Given the description of an element on the screen output the (x, y) to click on. 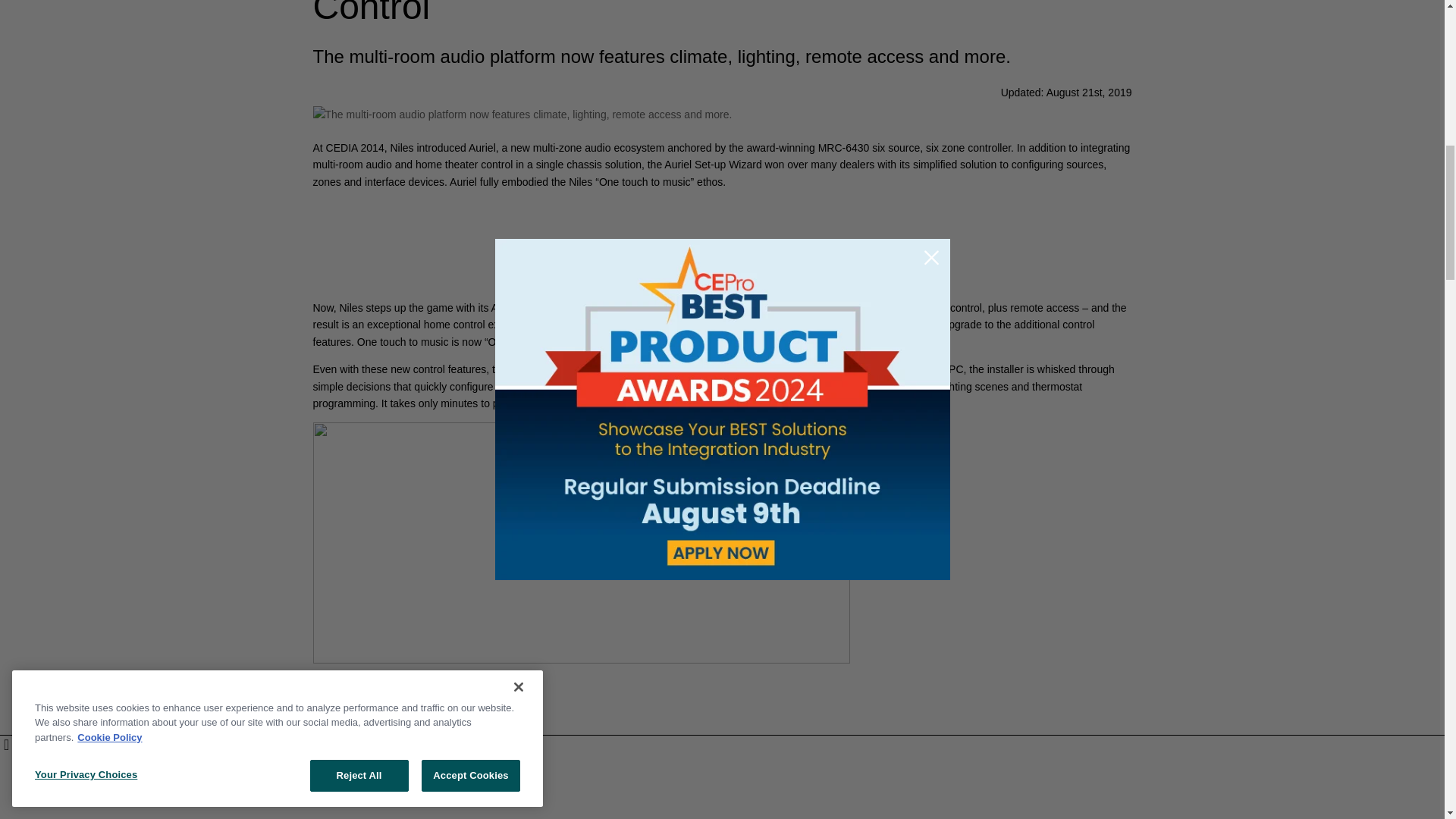
3rd party ad content (517, 250)
